Given the description of an element on the screen output the (x, y) to click on. 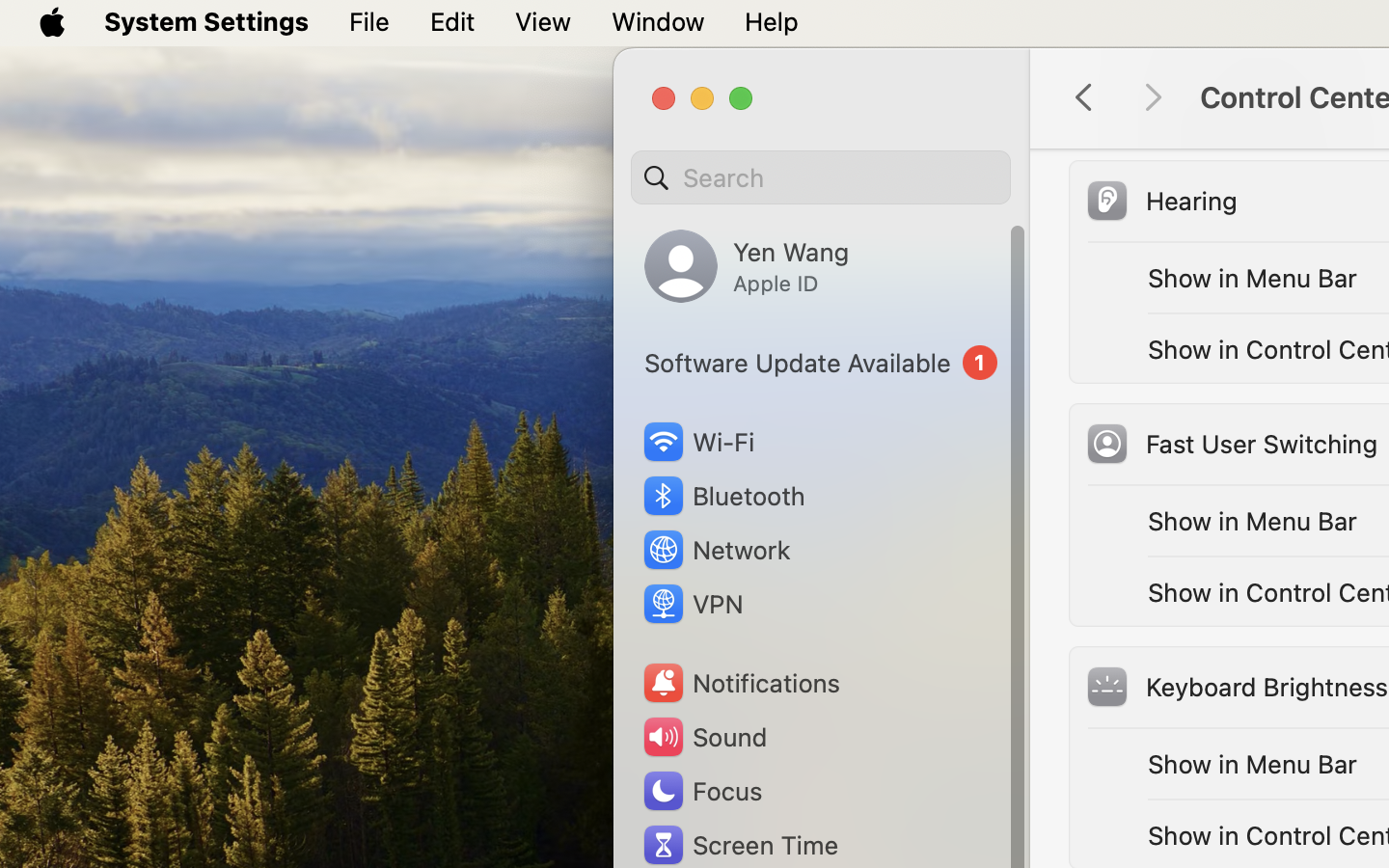
Notifications Element type: AXStaticText (740, 682)
Yen Wang, Apple ID Element type: AXStaticText (746, 265)
Wi‑Fi Element type: AXStaticText (697, 441)
Network Element type: AXStaticText (715, 549)
